Given the description of an element on the screen output the (x, y) to click on. 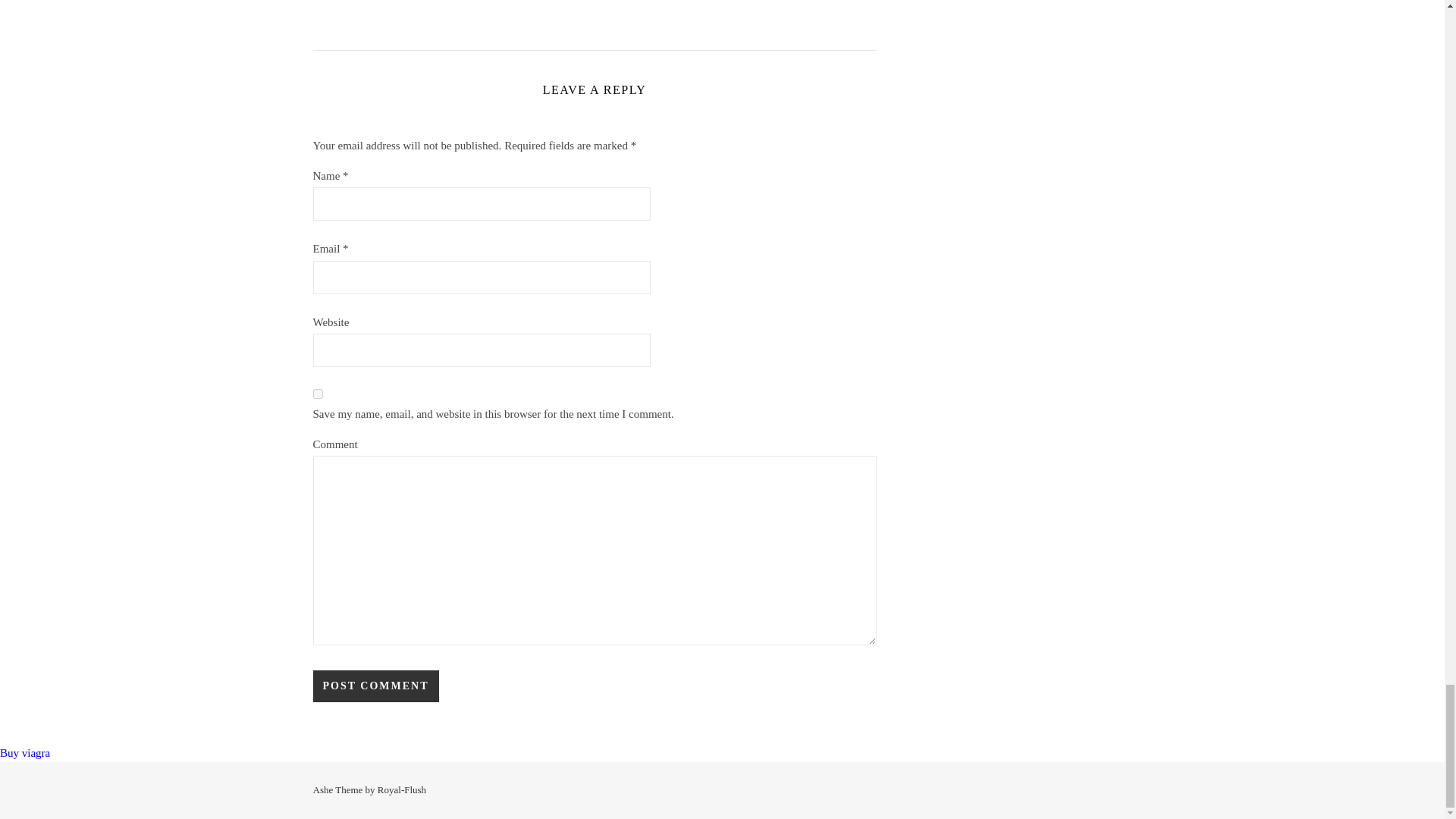
yes (317, 393)
Post Comment (375, 685)
Post Comment (375, 685)
